Given the description of an element on the screen output the (x, y) to click on. 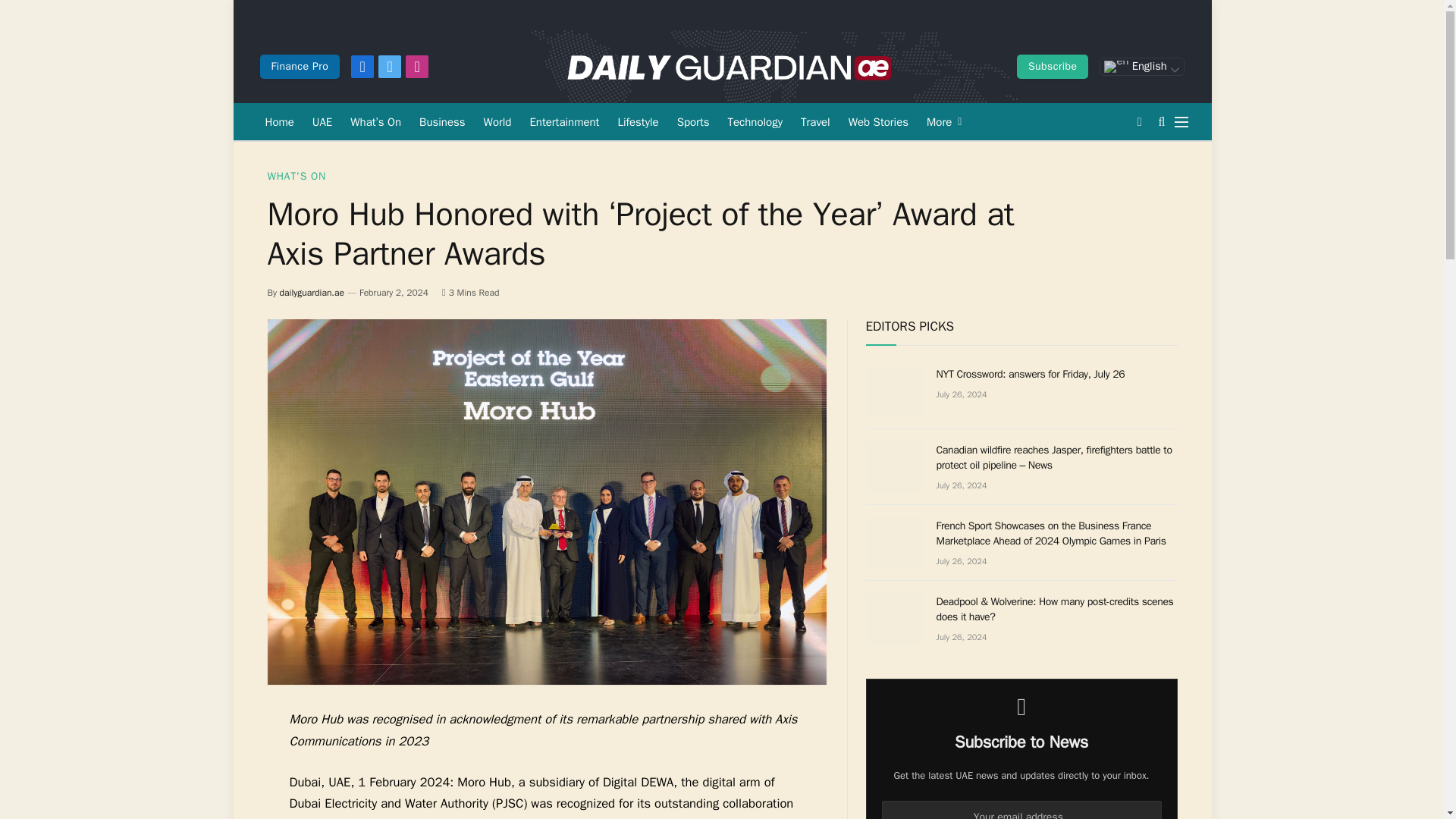
Daily Guardian UAE (727, 66)
Instagram (417, 66)
Subscribe (1051, 66)
Facebook (362, 66)
Finance Pro (299, 66)
